Given the description of an element on the screen output the (x, y) to click on. 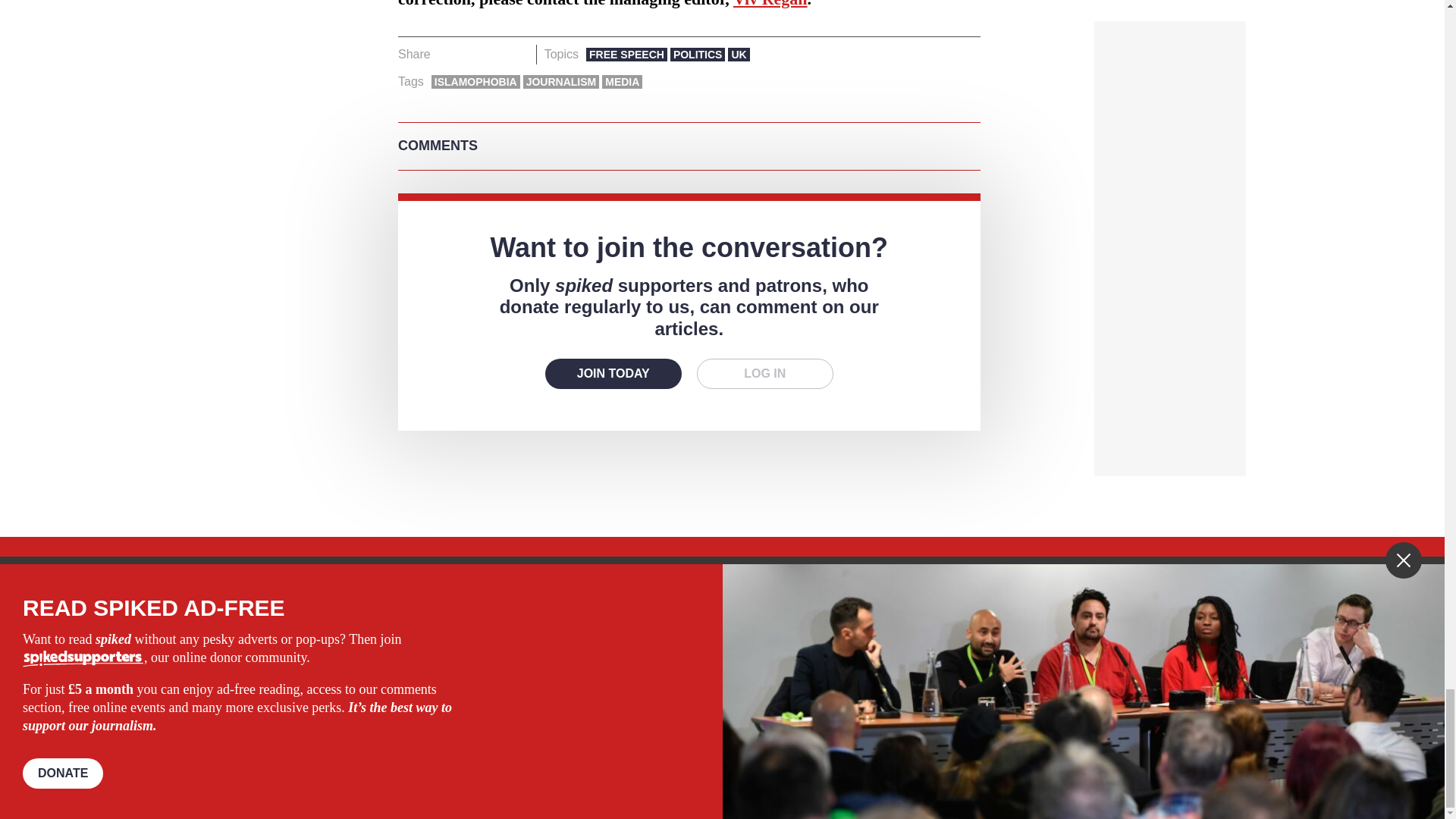
Share on Email (518, 54)
Share on Facebook (448, 54)
Share on Twitter (471, 54)
Share on Whatsapp (494, 54)
